Given the description of an element on the screen output the (x, y) to click on. 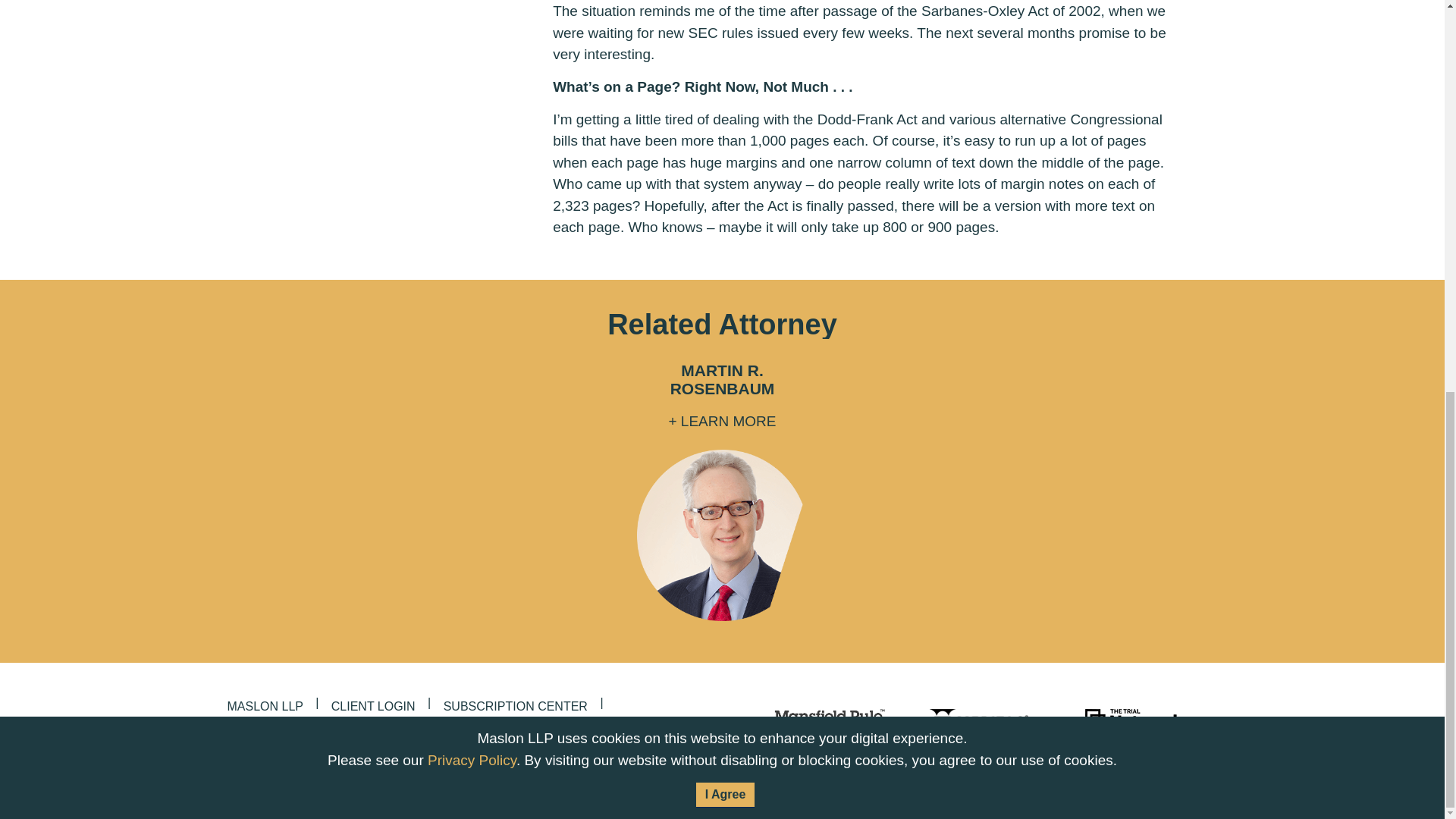
MARTIN R. ROSENBAUM (722, 382)
Privacy Policy (472, 9)
MEDIA INQUIRIES (411, 728)
SUBSCRIBE TO RSS (1166, 760)
CLIENT LOGIN (372, 706)
SUBSCRIPTION CENTER (516, 706)
ONLINE PAYMENT (280, 728)
PRIVACY POLICY (568, 771)
MASLON LLP (264, 706)
